Given the description of an element on the screen output the (x, y) to click on. 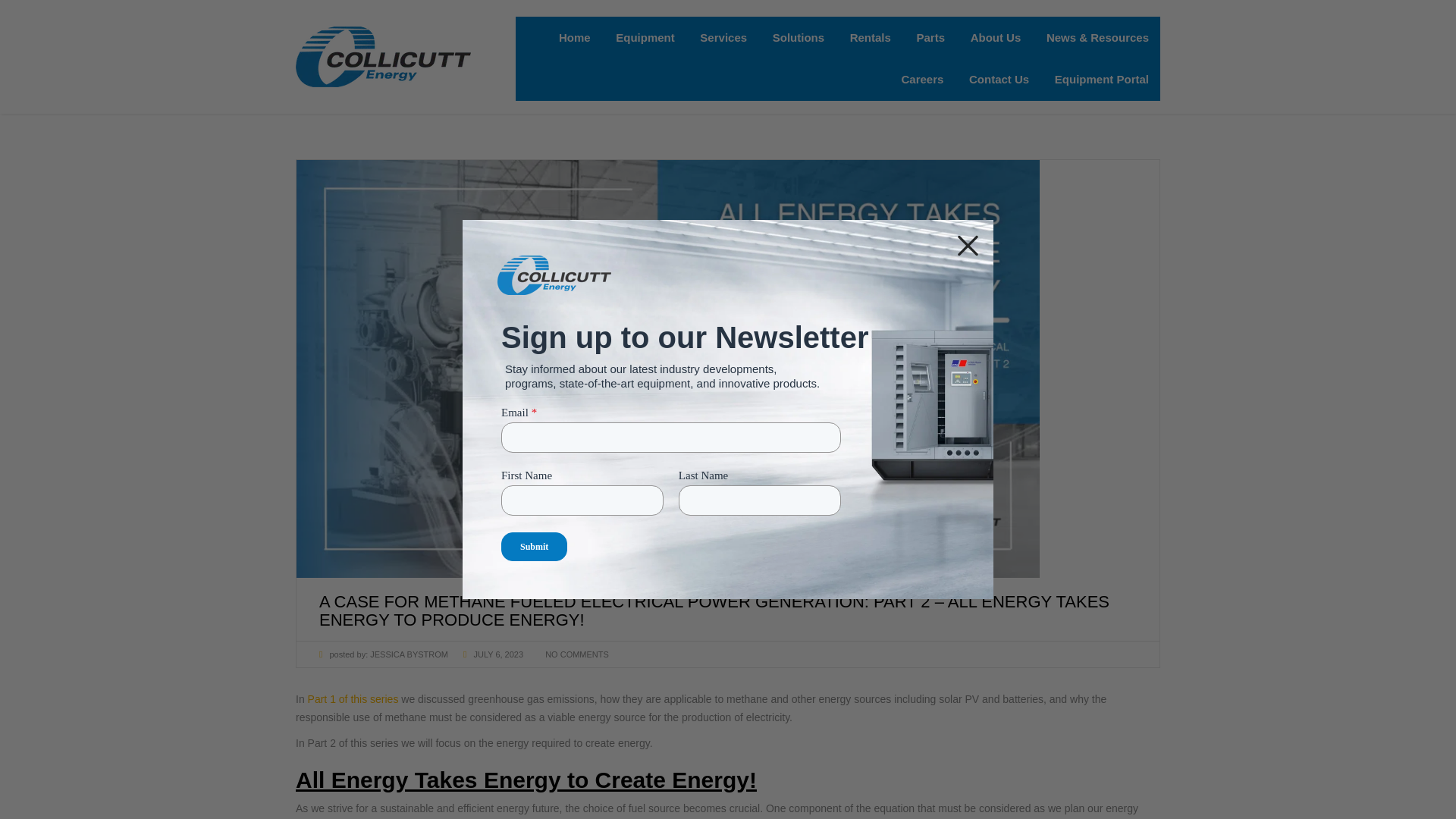
About Us (995, 37)
Home (574, 37)
Equipment (644, 37)
Contact Us (999, 79)
Rentals (870, 37)
Services (723, 37)
Parts (930, 37)
Solutions (798, 37)
Careers (922, 79)
Part 1 of this series (352, 698)
Equipment Portal (1101, 79)
